Given the description of an element on the screen output the (x, y) to click on. 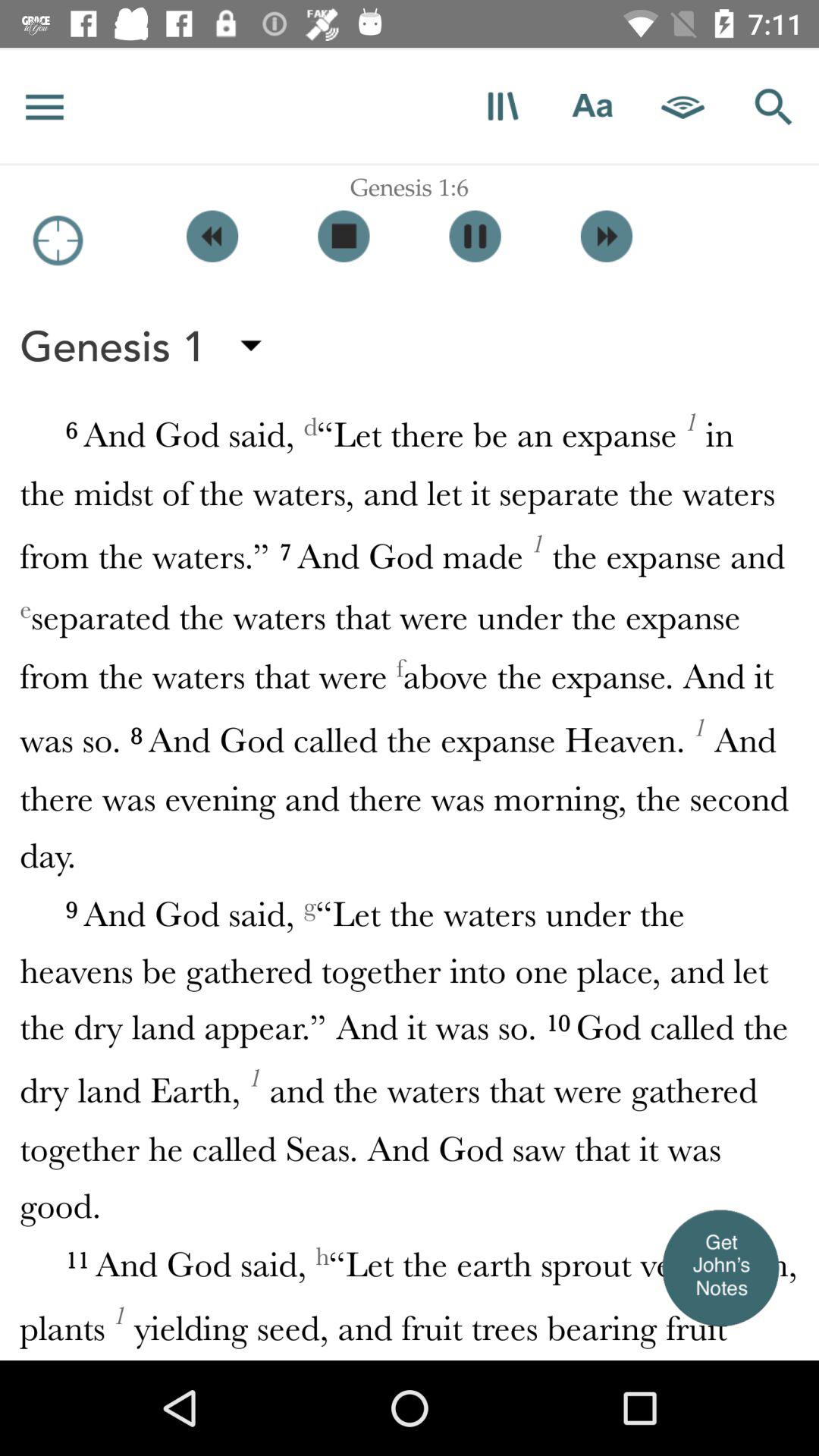
change letter size (592, 106)
